Given the description of an element on the screen output the (x, y) to click on. 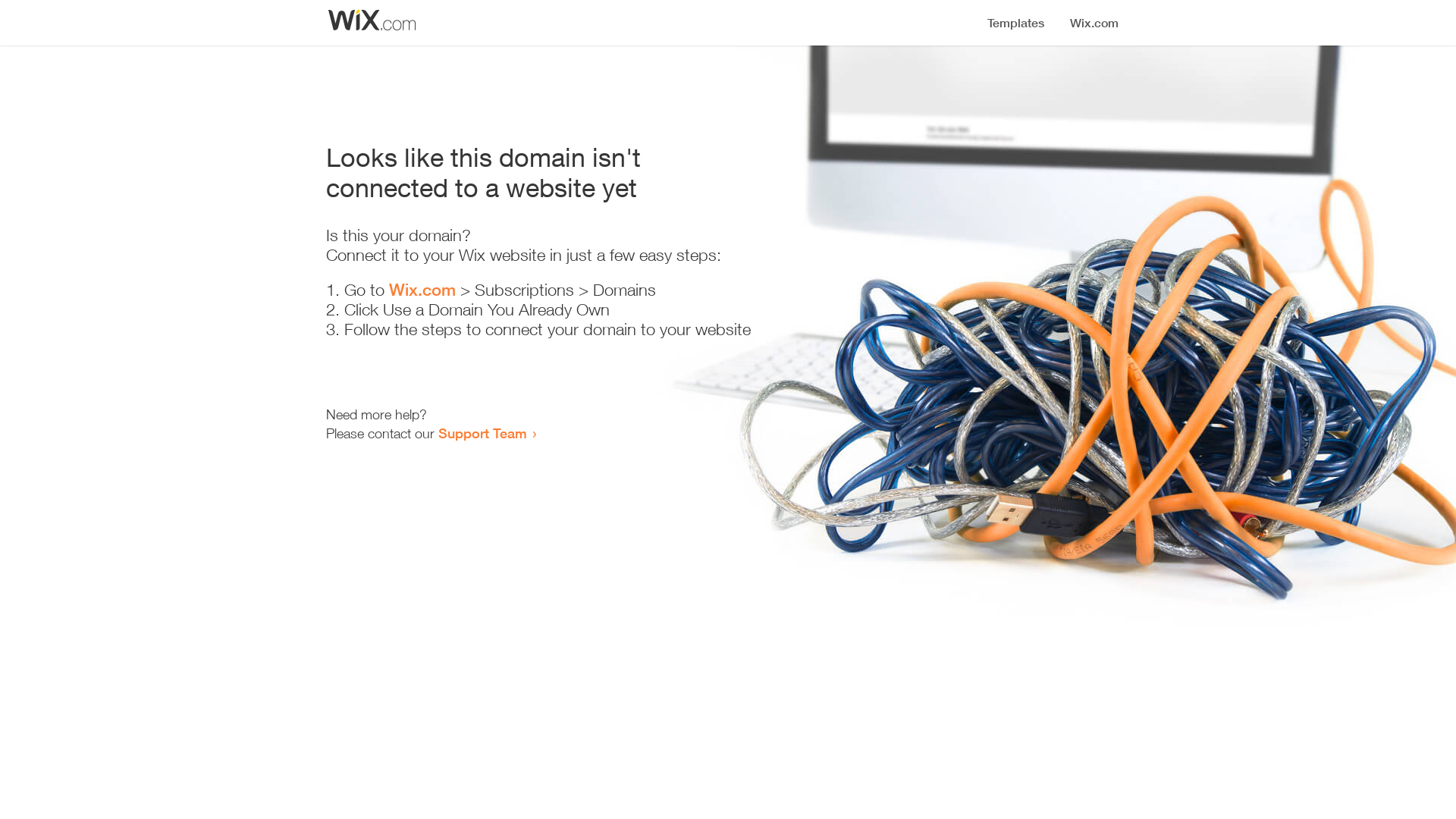
Support Team Element type: text (482, 432)
Wix.com Element type: text (422, 289)
